Given the description of an element on the screen output the (x, y) to click on. 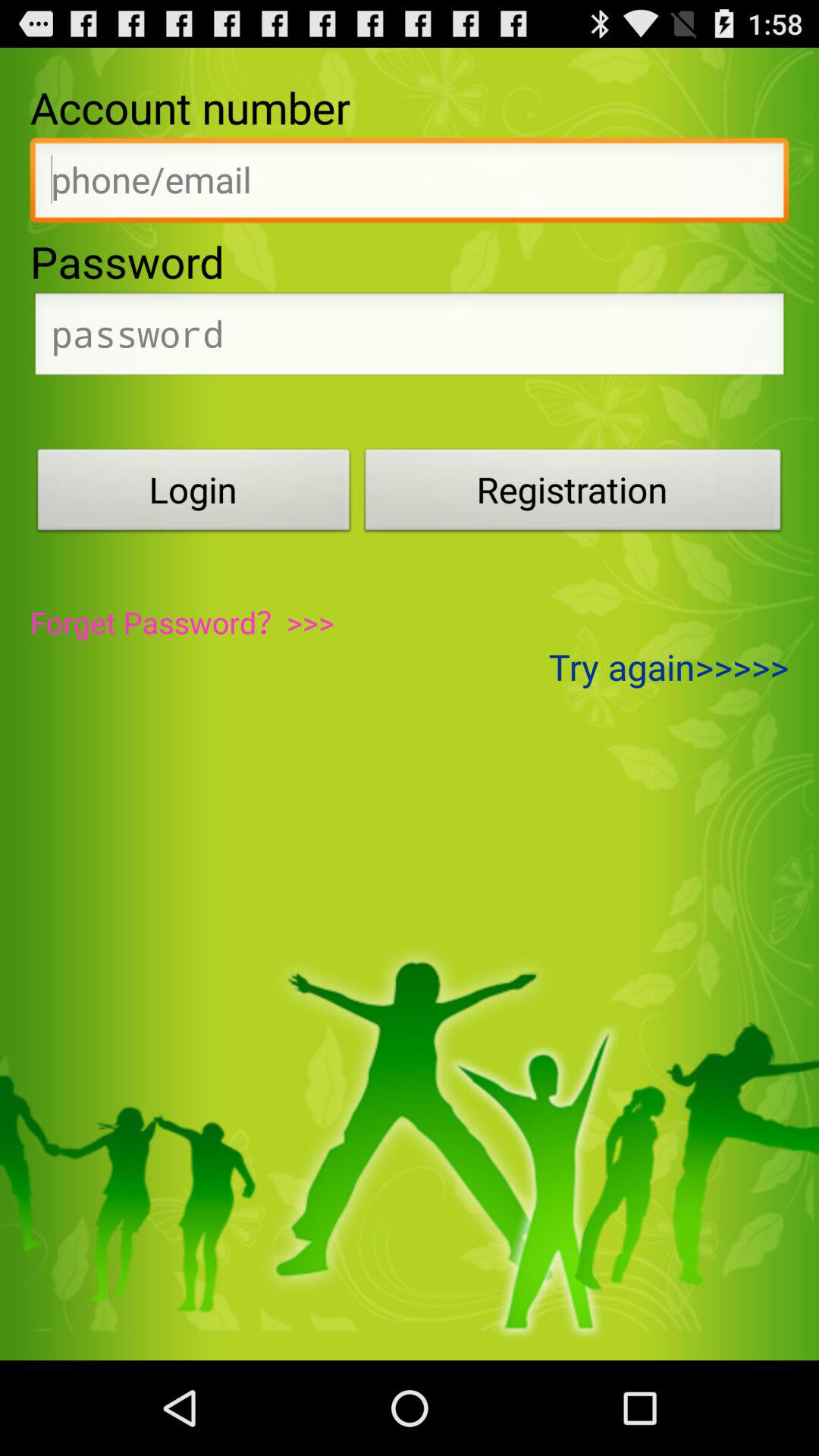
click the icon to the left of the registration icon (193, 494)
